Given the description of an element on the screen output the (x, y) to click on. 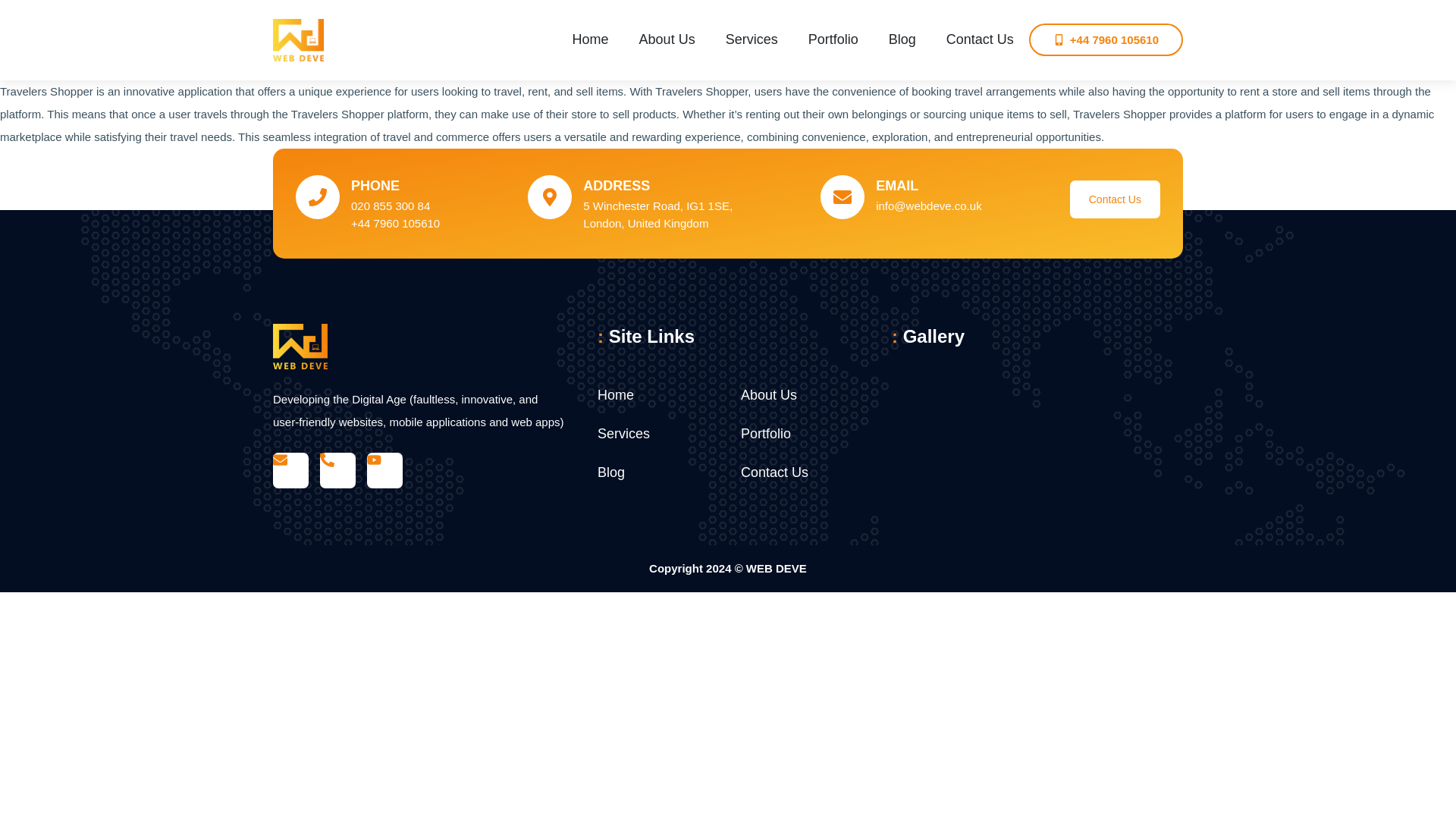
Services (751, 39)
Home (630, 394)
About Us (667, 39)
Contact Us (774, 472)
Contact Us (979, 39)
Portfolio (833, 39)
Contact Us (1115, 199)
Home (590, 39)
Blog (630, 472)
About Us (774, 394)
Blog (901, 39)
Services (630, 433)
Portfolio (774, 433)
